Given the description of an element on the screen output the (x, y) to click on. 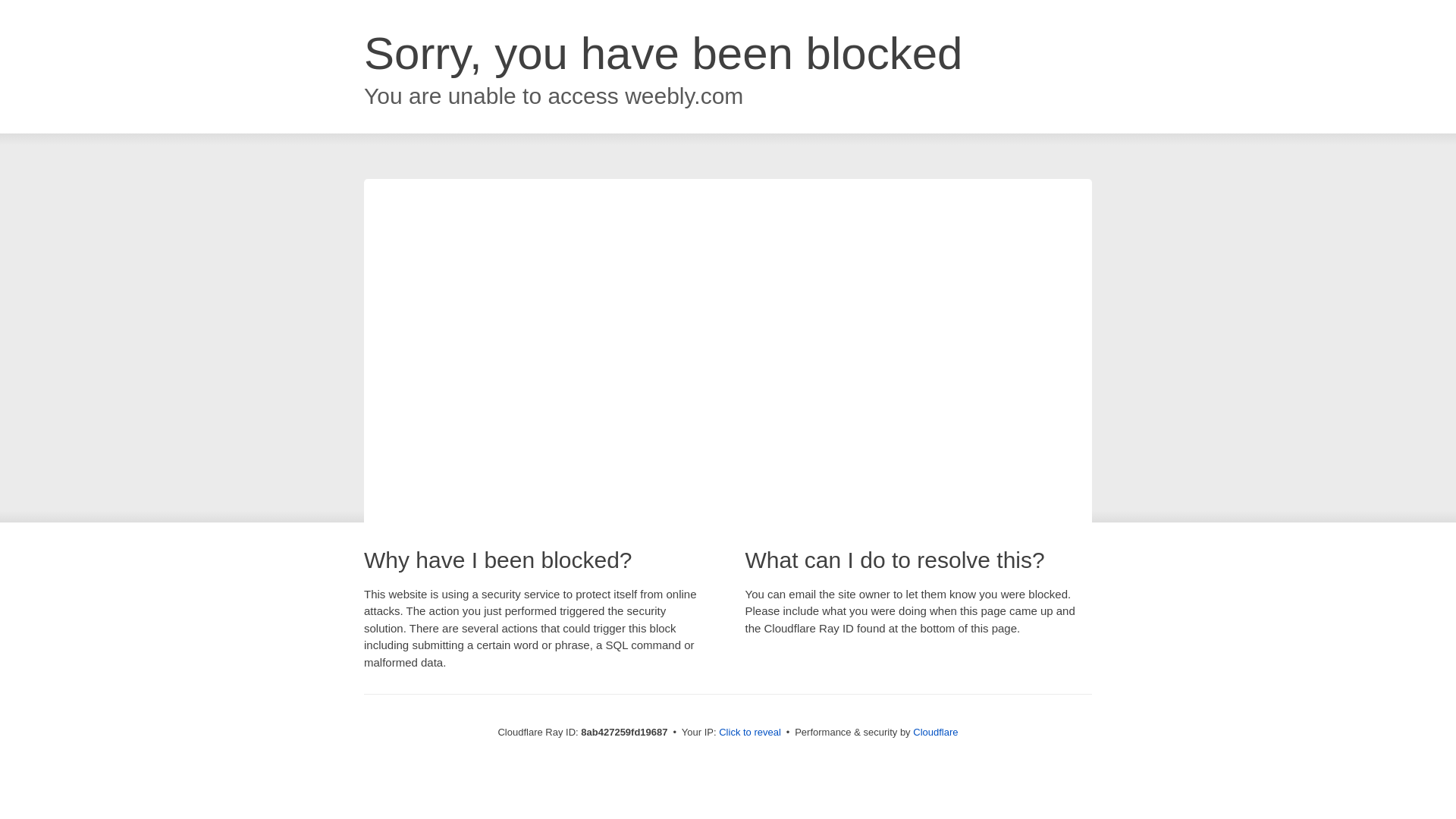
Cloudflare (935, 731)
Click to reveal (749, 732)
